Given the description of an element on the screen output the (x, y) to click on. 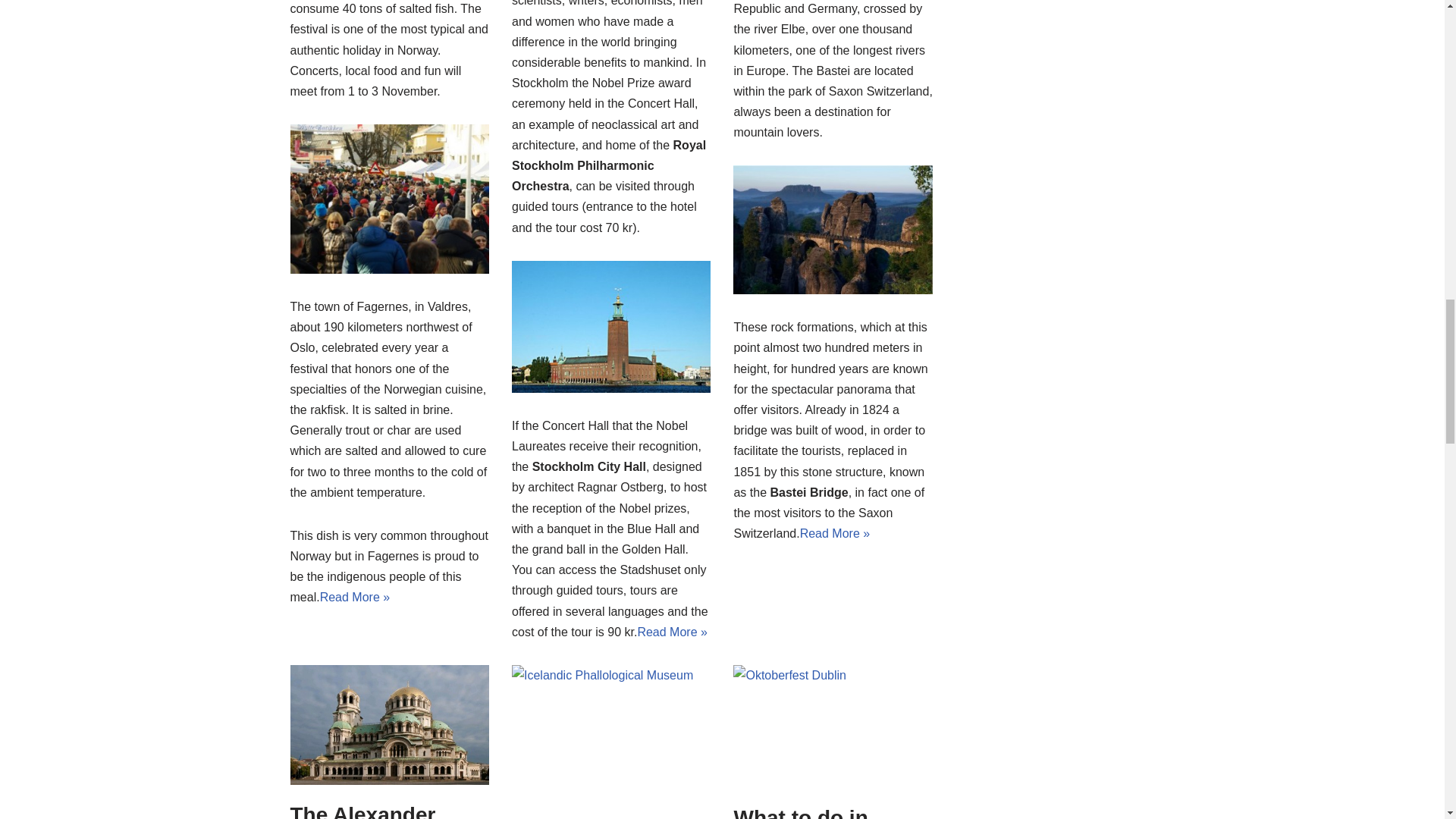
What to do in Ireland: Some events not to miss (832, 726)
The Alexander Nevsky Cathedral in Sofia (378, 811)
fish festival in Norway (388, 198)
Icelandic Phallological Museum (611, 740)
What to do in Ireland: Some events not to miss (826, 812)
Stockholm City Hall (611, 327)
bastei bridge (832, 229)
The Alexander Nevsky Cathedral in Sofia (388, 724)
